Given the description of an element on the screen output the (x, y) to click on. 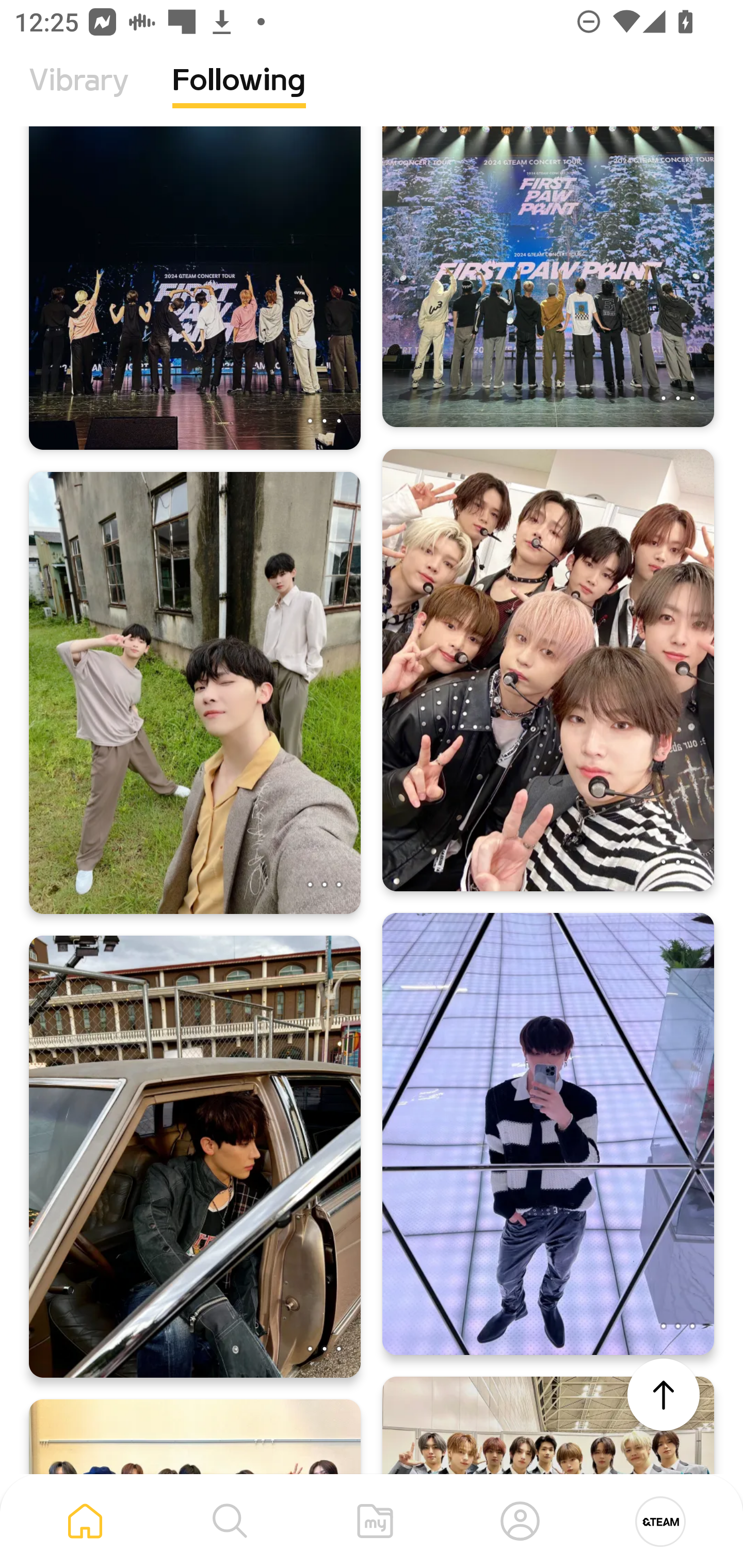
Vibrary (78, 95)
Following (239, 95)
